Given the description of an element on the screen output the (x, y) to click on. 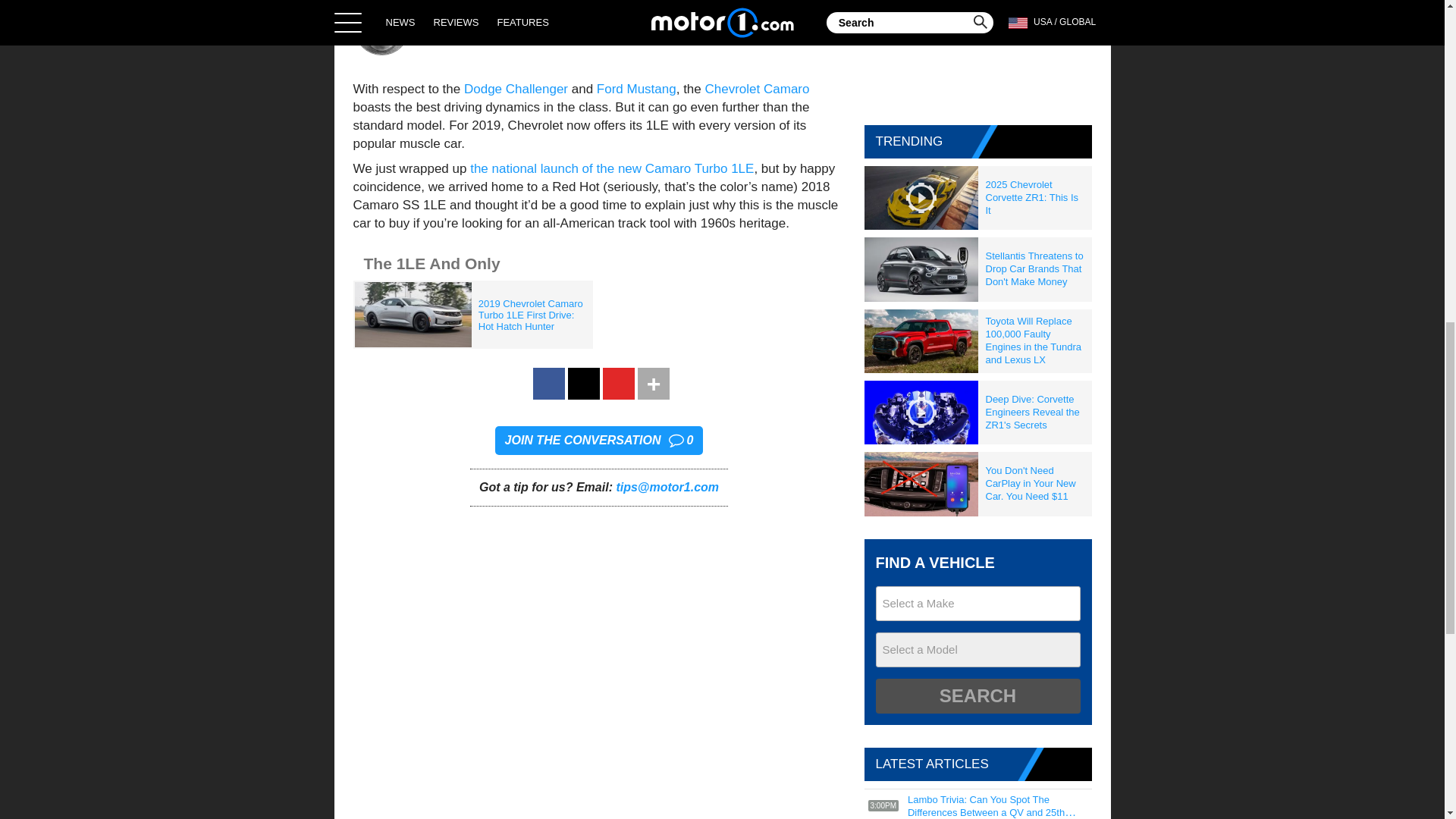
Search (977, 695)
the national launch of the new Camaro Turbo 1LE (612, 168)
Chevrolet Camaro (756, 88)
Ford Mustang (636, 88)
Brandon Turkus (488, 25)
Dodge Challenger (518, 88)
